Given the description of an element on the screen output the (x, y) to click on. 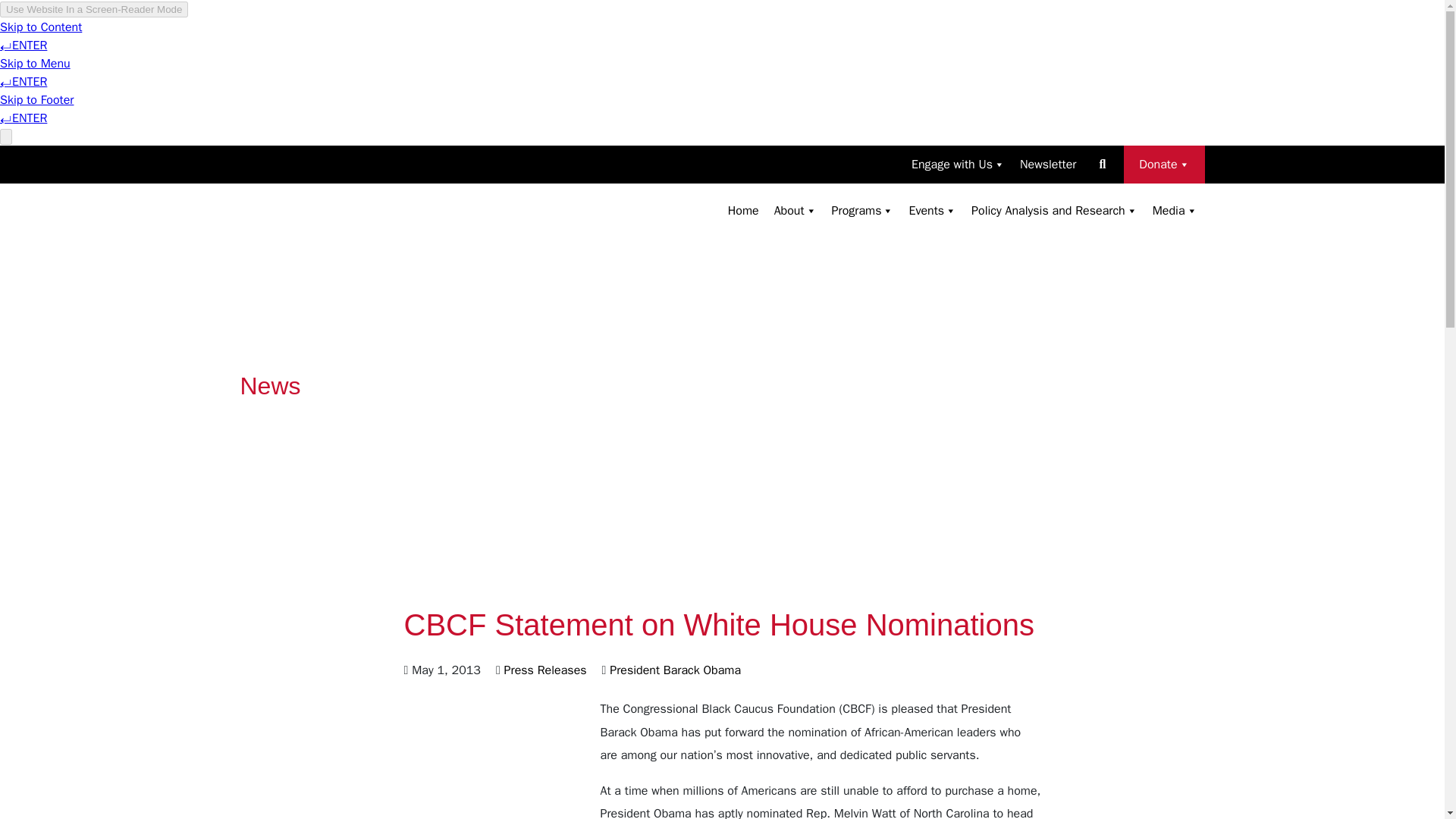
Home (743, 210)
Donate (1164, 164)
Newsletter (1047, 164)
Engage with Us (957, 164)
About (795, 210)
Congressional Black Caucus Foundation (339, 228)
Programs (862, 210)
